Given the description of an element on the screen output the (x, y) to click on. 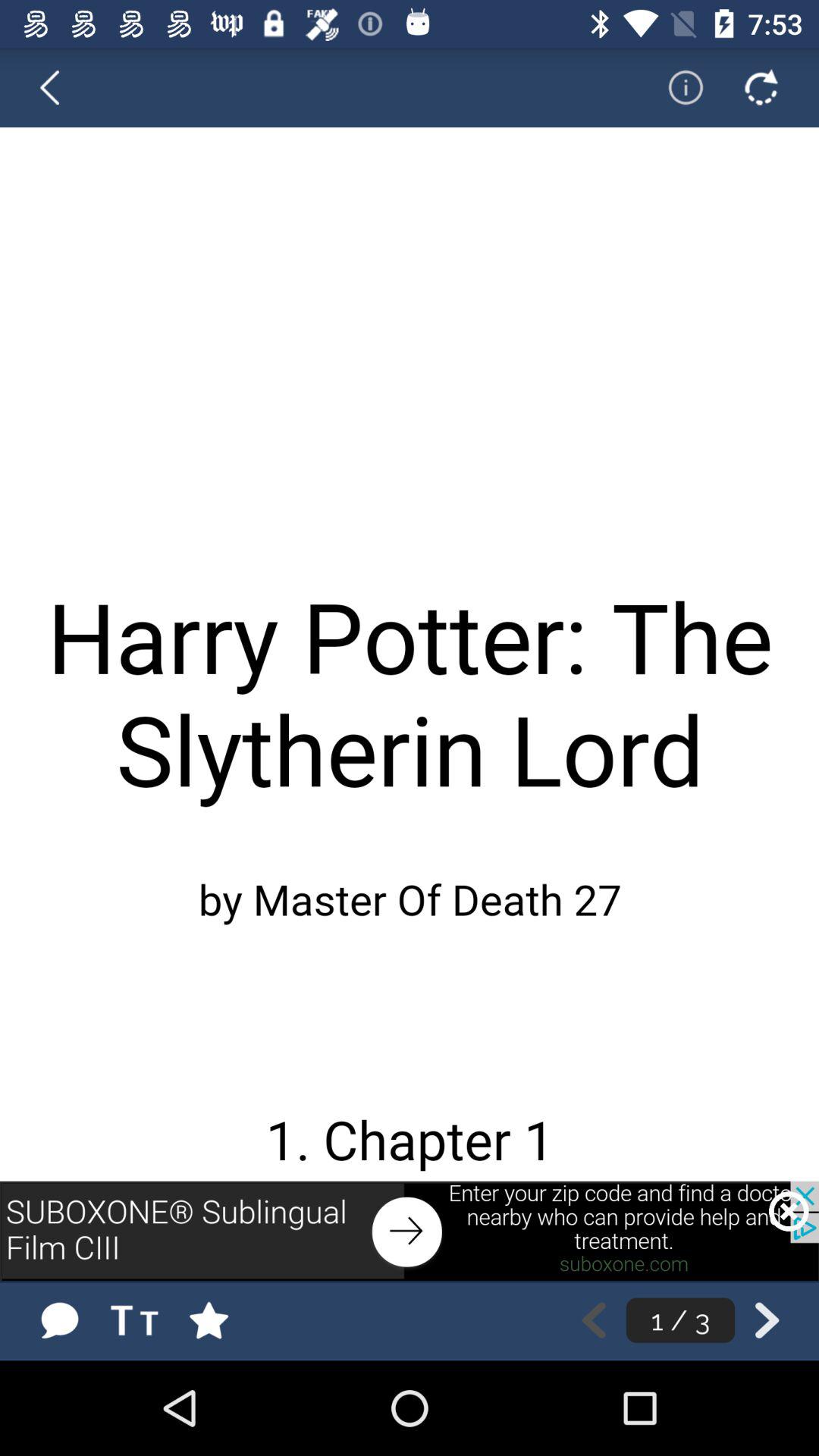
back (59, 87)
